Given the description of an element on the screen output the (x, y) to click on. 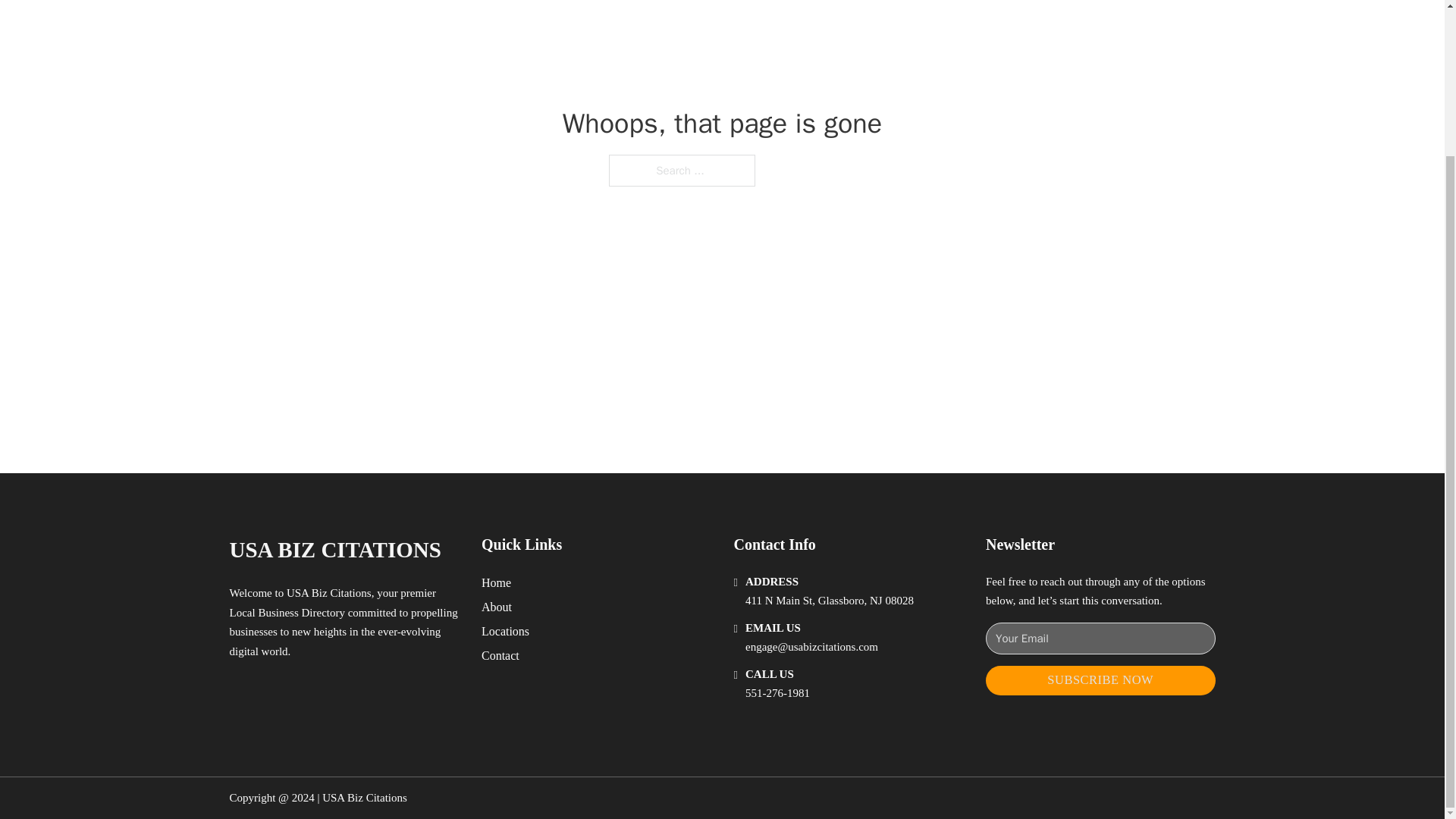
551-276-1981 (777, 693)
Contact (500, 655)
USA BIZ CITATIONS (334, 549)
Home (496, 582)
SUBSCRIBE NOW (1100, 680)
About (496, 607)
Locations (505, 630)
